Given the description of an element on the screen output the (x, y) to click on. 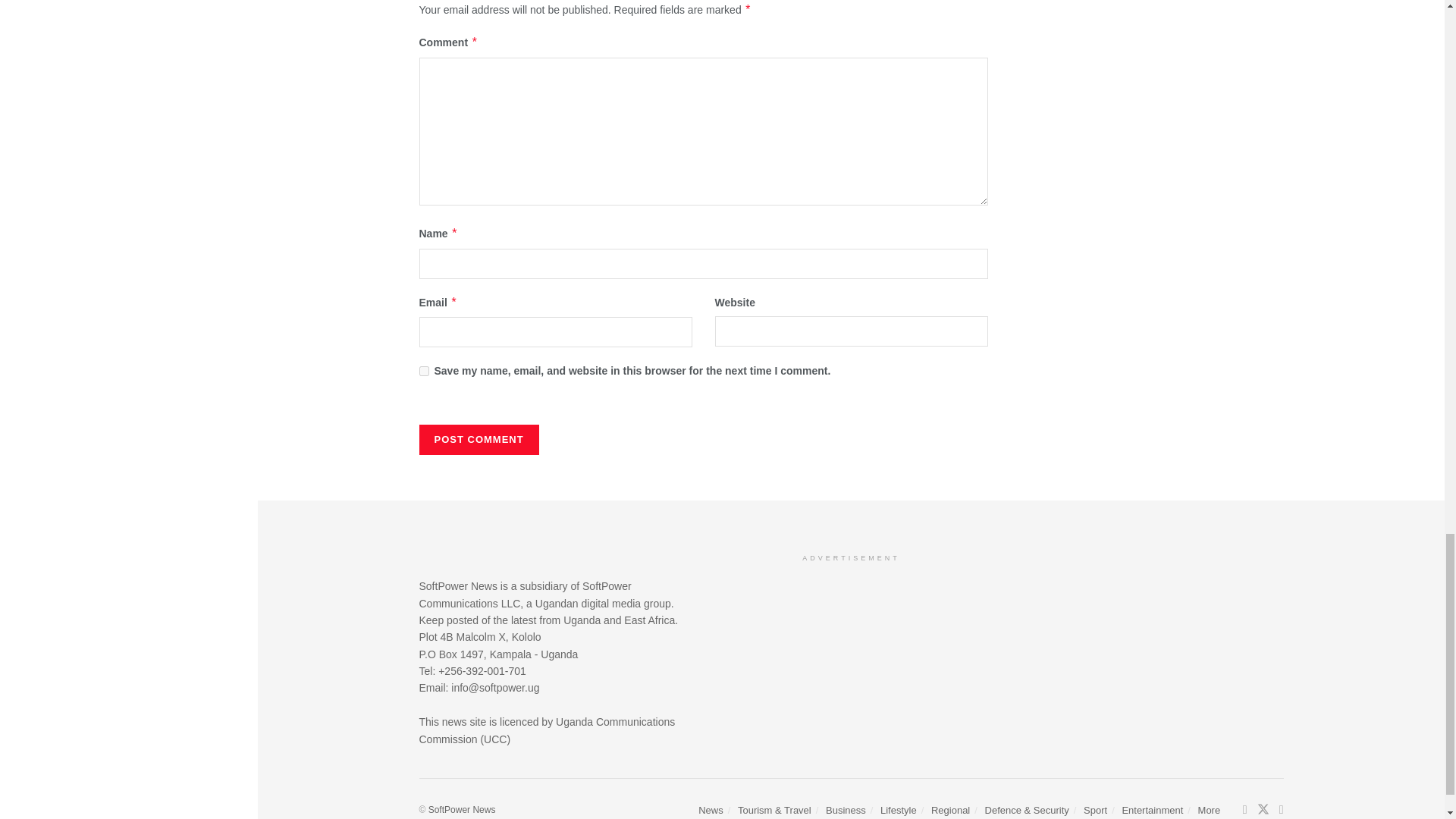
yes (423, 370)
SoftPower News (462, 809)
Post Comment (478, 440)
